Given the description of an element on the screen output the (x, y) to click on. 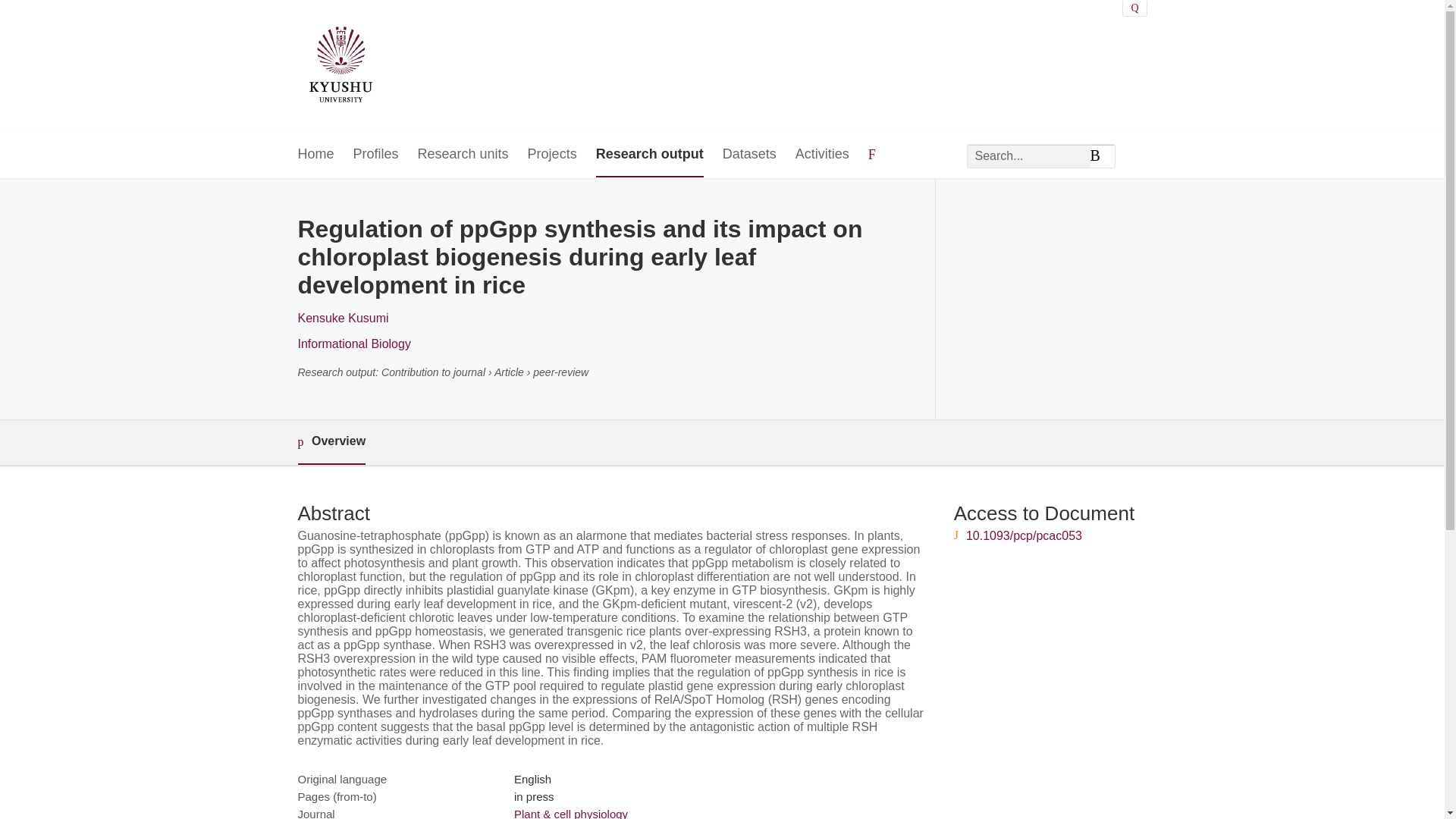
Datasets (749, 154)
Kensuke Kusumi (342, 318)
Profiles (375, 154)
Overview (331, 442)
Informational Biology (353, 343)
Research units (462, 154)
Activities (821, 154)
Research output (649, 154)
Projects (551, 154)
